Given the description of an element on the screen output the (x, y) to click on. 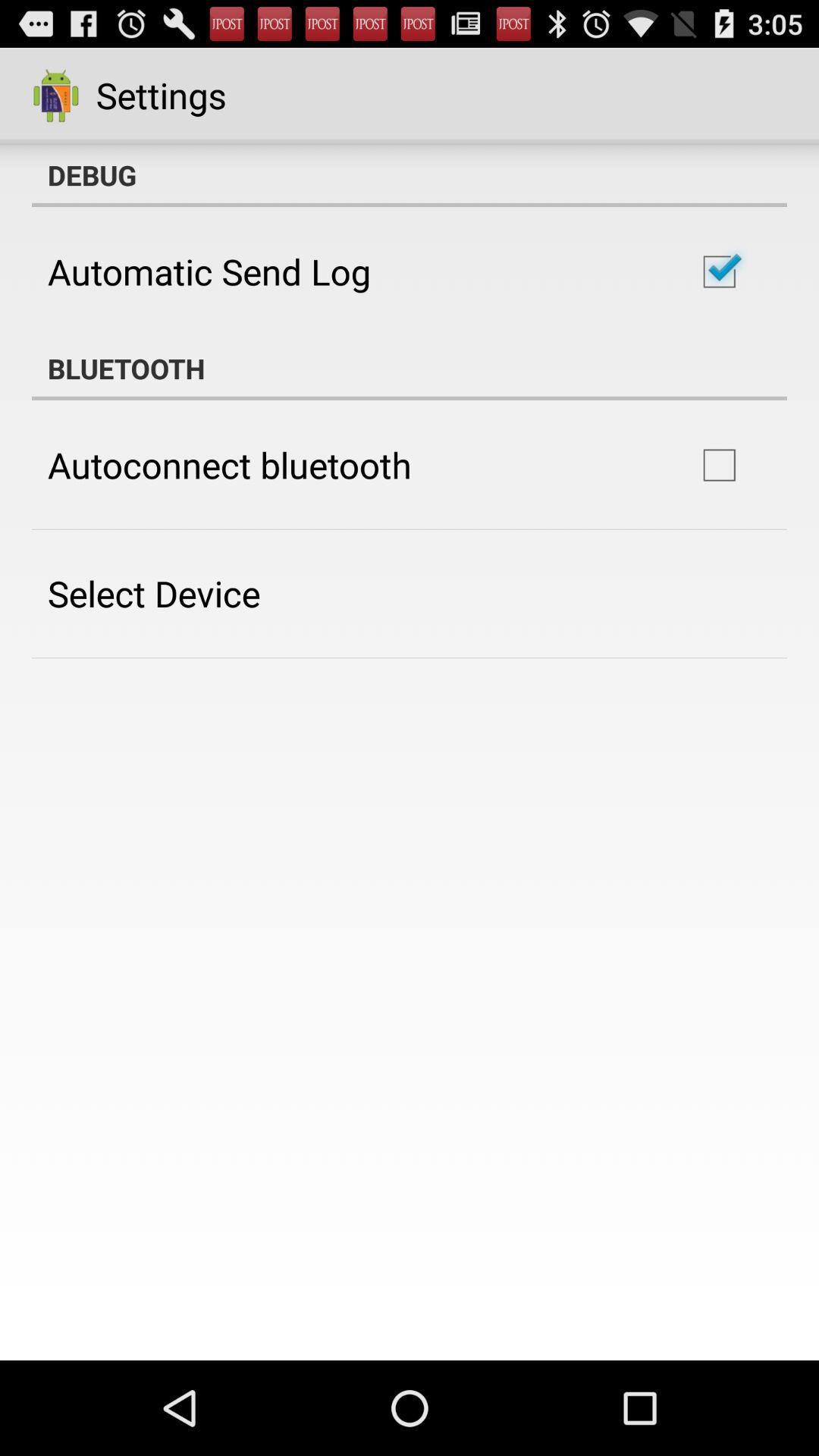
open the app below the autoconnect bluetooth item (153, 593)
